Given the description of an element on the screen output the (x, y) to click on. 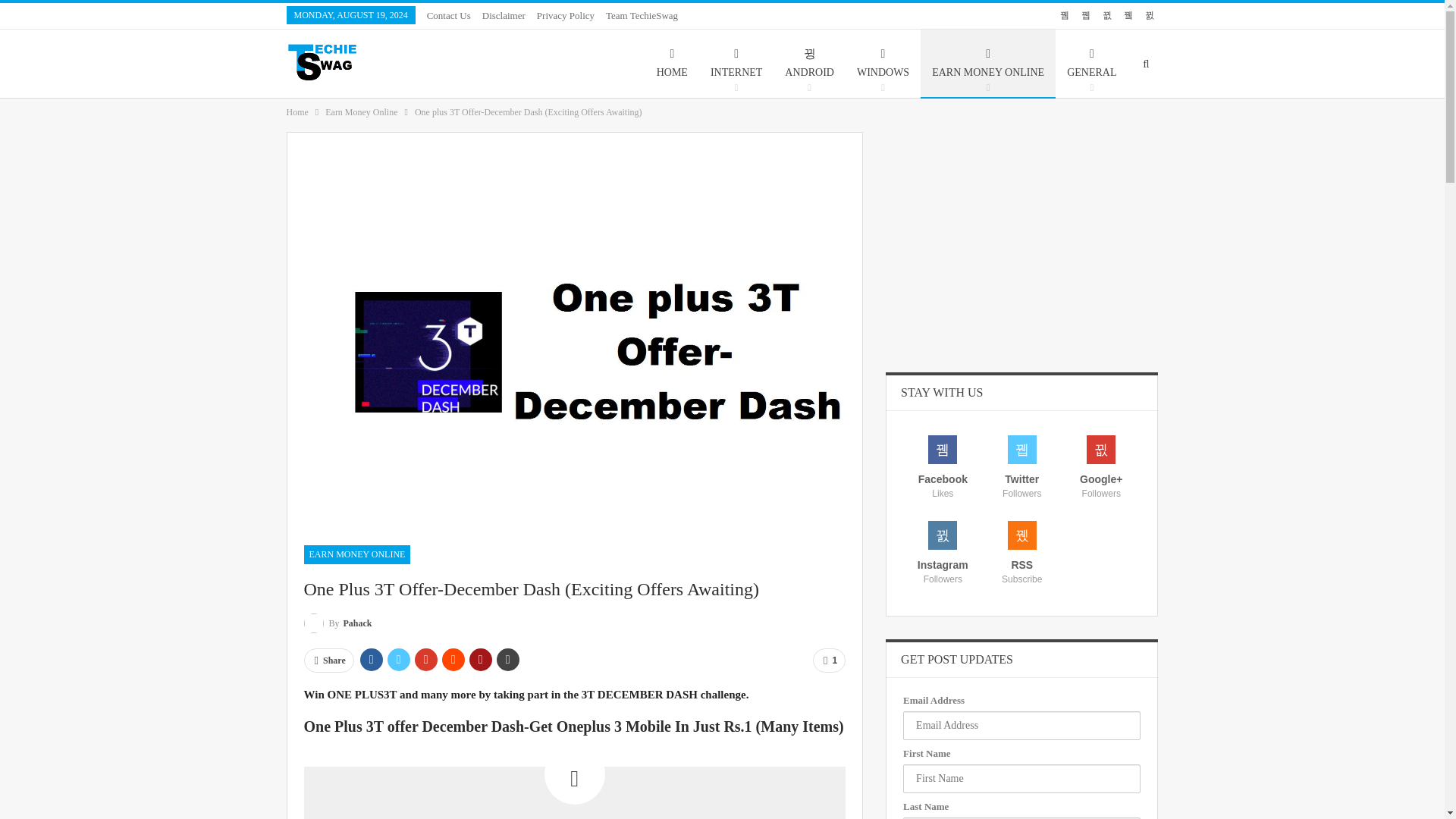
Team TechieSwag (641, 15)
ANDROID (809, 63)
Disclaimer (503, 15)
Privacy Policy (565, 15)
Contact Us (448, 15)
INTERNET (735, 63)
